Given the description of an element on the screen output the (x, y) to click on. 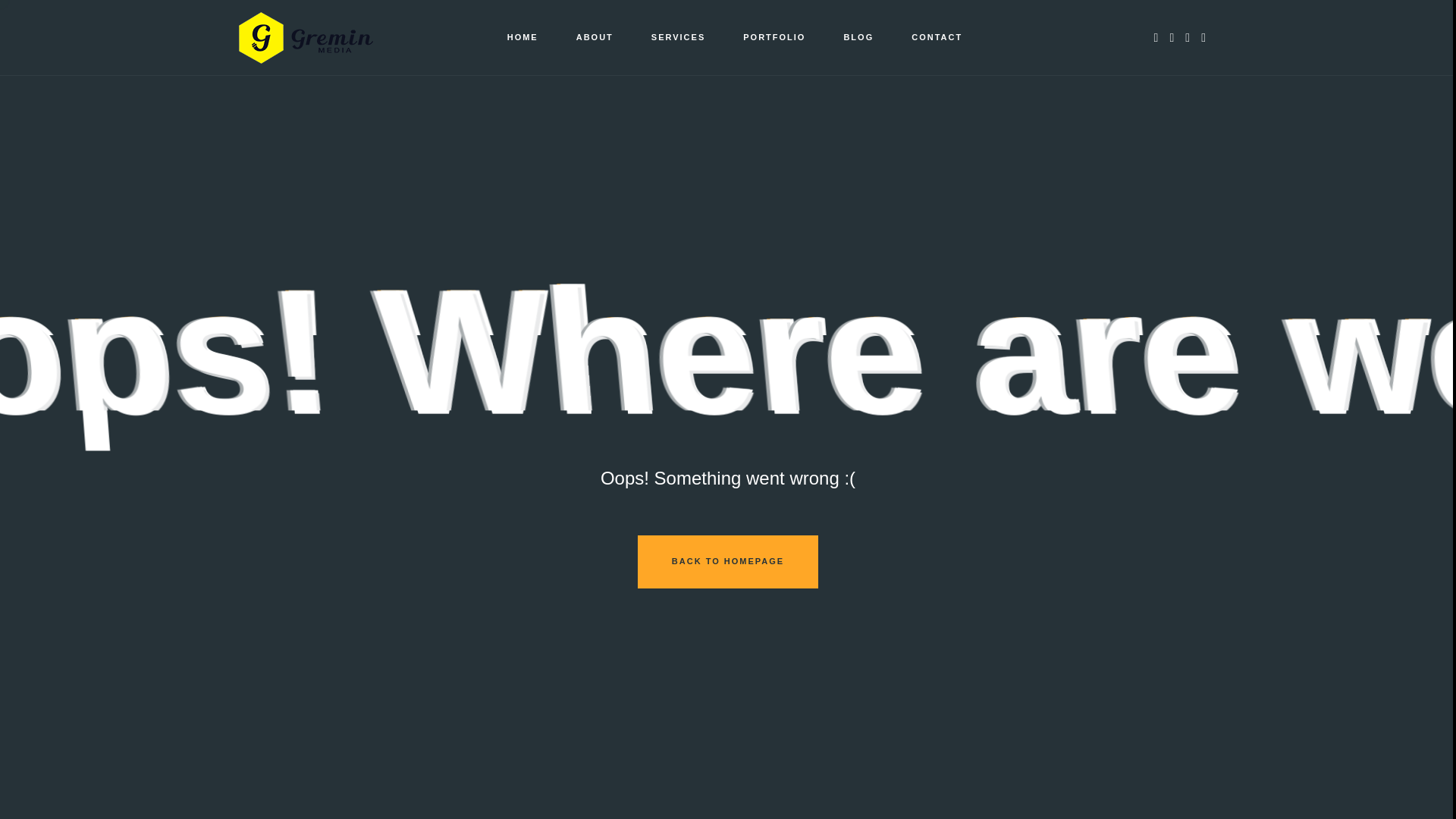
BLOG (858, 37)
SERVICES (677, 37)
CONTACT (936, 37)
ABOUT (594, 37)
BACK TO HOMEPAGE (727, 561)
PORTFOLIO (773, 37)
HOME (522, 37)
